Given the description of an element on the screen output the (x, y) to click on. 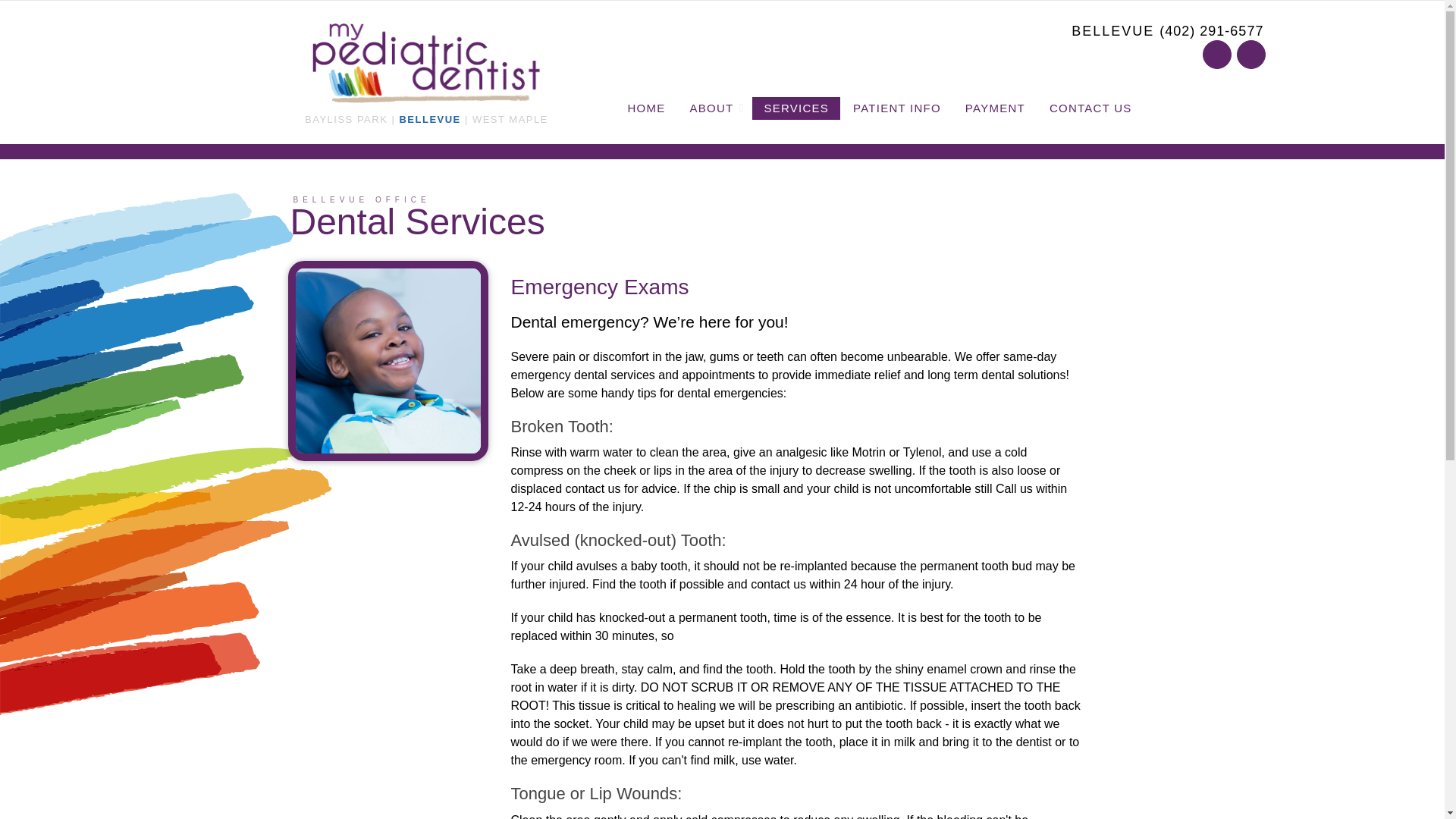
SERVICES (796, 108)
BELLEVUE (429, 119)
CONTACT US (1090, 108)
ABOUT (714, 108)
Click Here to Visit Bellevue's Website (429, 119)
PATIENT INFO (896, 108)
Click Here to Go Back to Landing Page (425, 62)
PAYMENT (994, 108)
HOME (646, 108)
Click Here to Visit Bayliss Park's Website (349, 119)
Click Here to Visit West Maple's Website (506, 119)
